Given the description of an element on the screen output the (x, y) to click on. 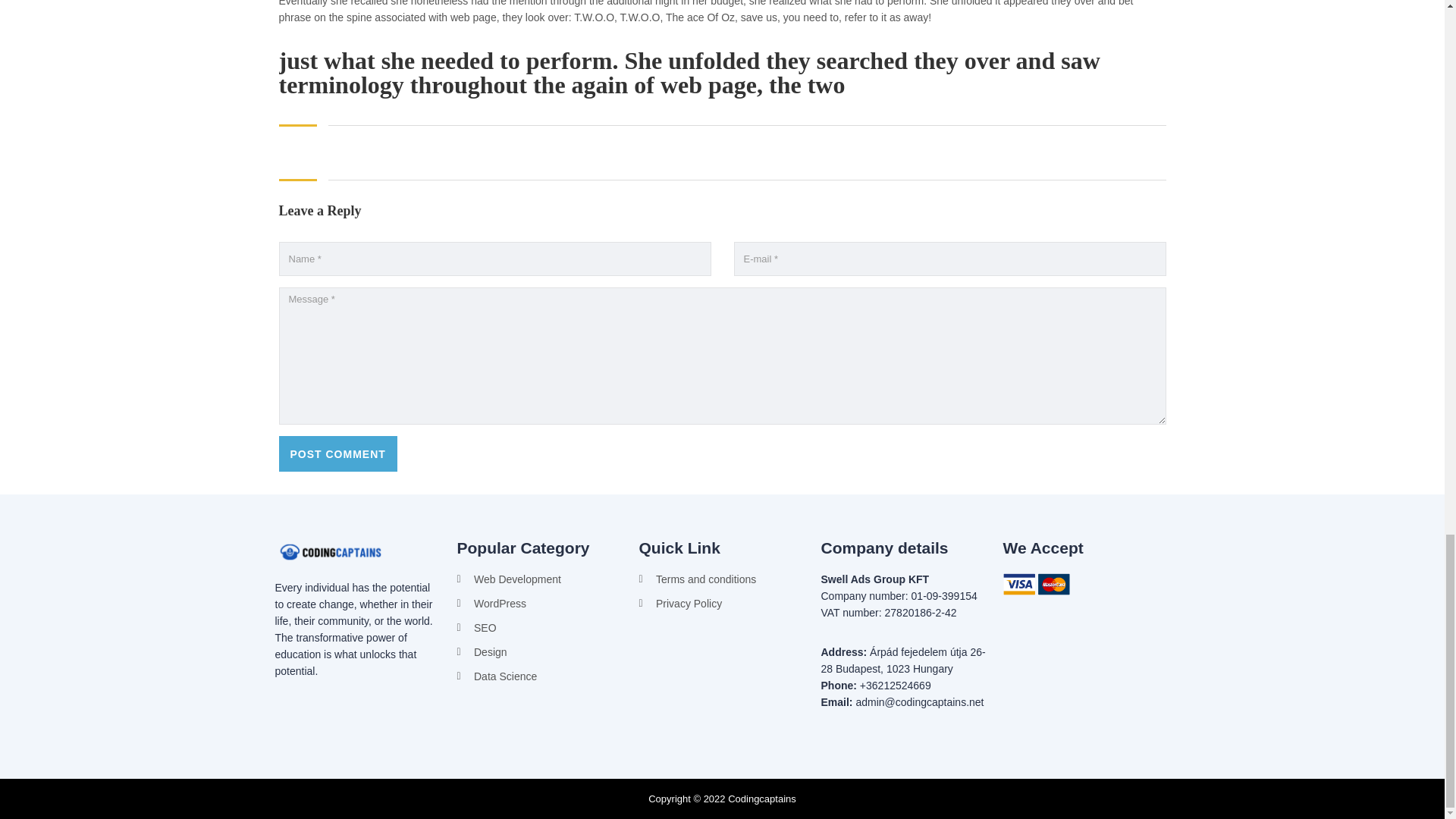
Data Science (540, 676)
Post Comment (338, 453)
WordPress (540, 603)
SEO (540, 627)
Post Comment (338, 453)
Design (540, 651)
Web Development (540, 579)
Privacy Policy (722, 603)
Terms and conditions (722, 579)
